Given the description of an element on the screen output the (x, y) to click on. 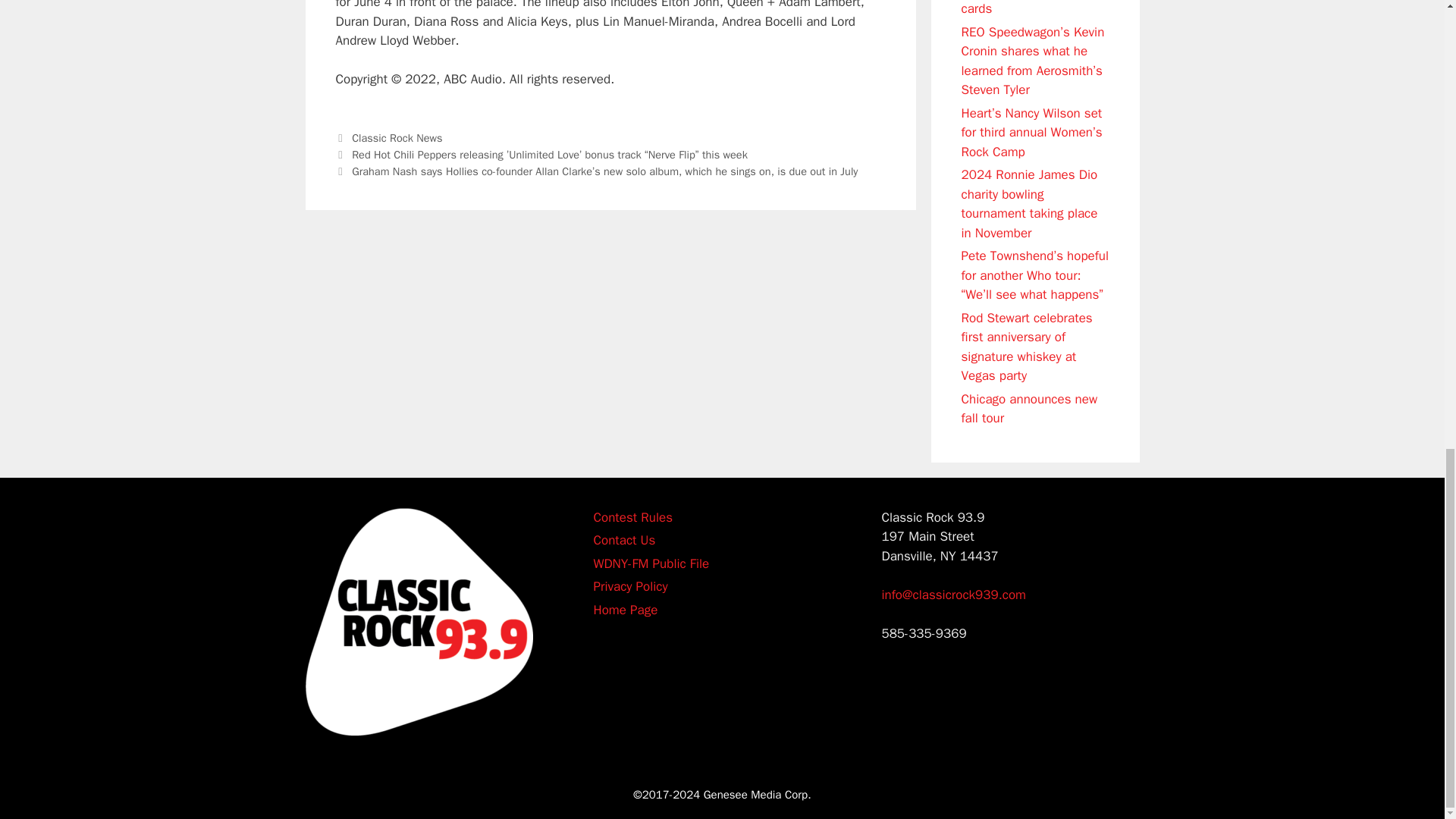
Contest Rules (632, 516)
Chicago announces new fall tour (1028, 407)
The Rolling Stones to be featured on new trading cards (1029, 8)
Classic Rock News (397, 137)
